Given the description of an element on the screen output the (x, y) to click on. 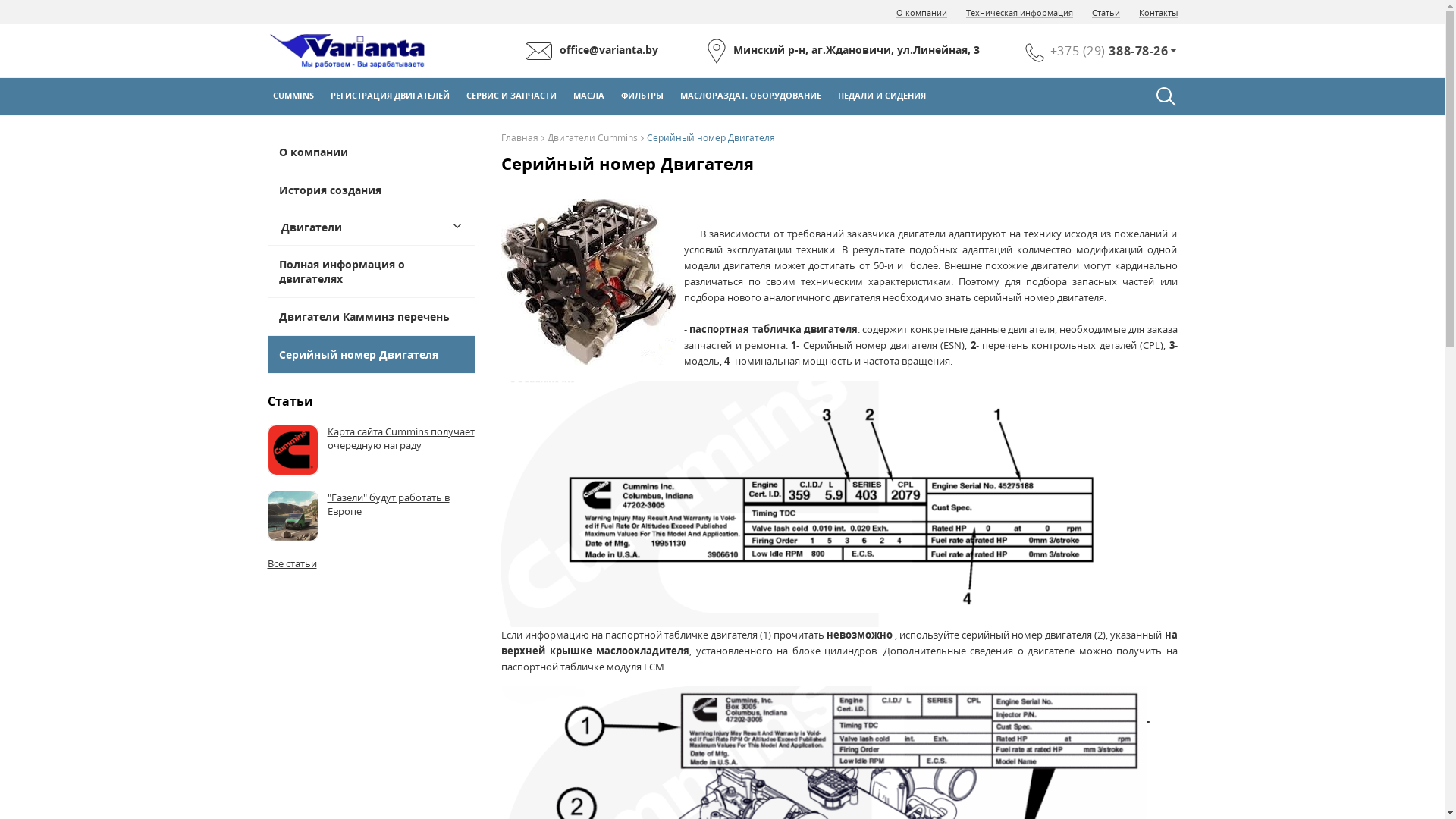
office@varianta.by Element type: text (591, 50)
CUMMINS Element type: text (295, 95)
